Given the description of an element on the screen output the (x, y) to click on. 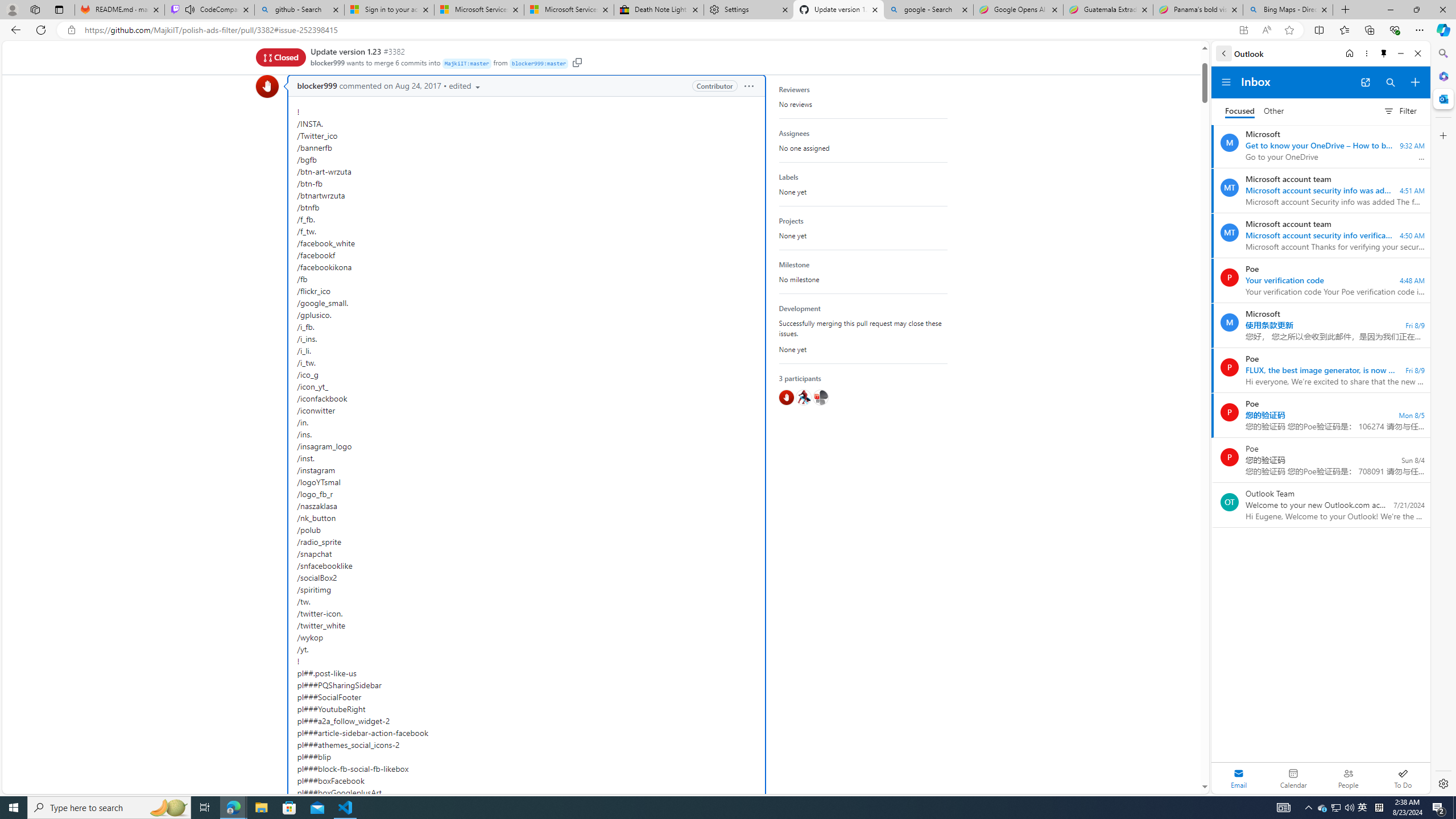
Filter (1399, 110)
@blocker999 (785, 396)
 Checks 0 (467, 54)
 Conversation 5 (302, 54)
